Given the description of an element on the screen output the (x, y) to click on. 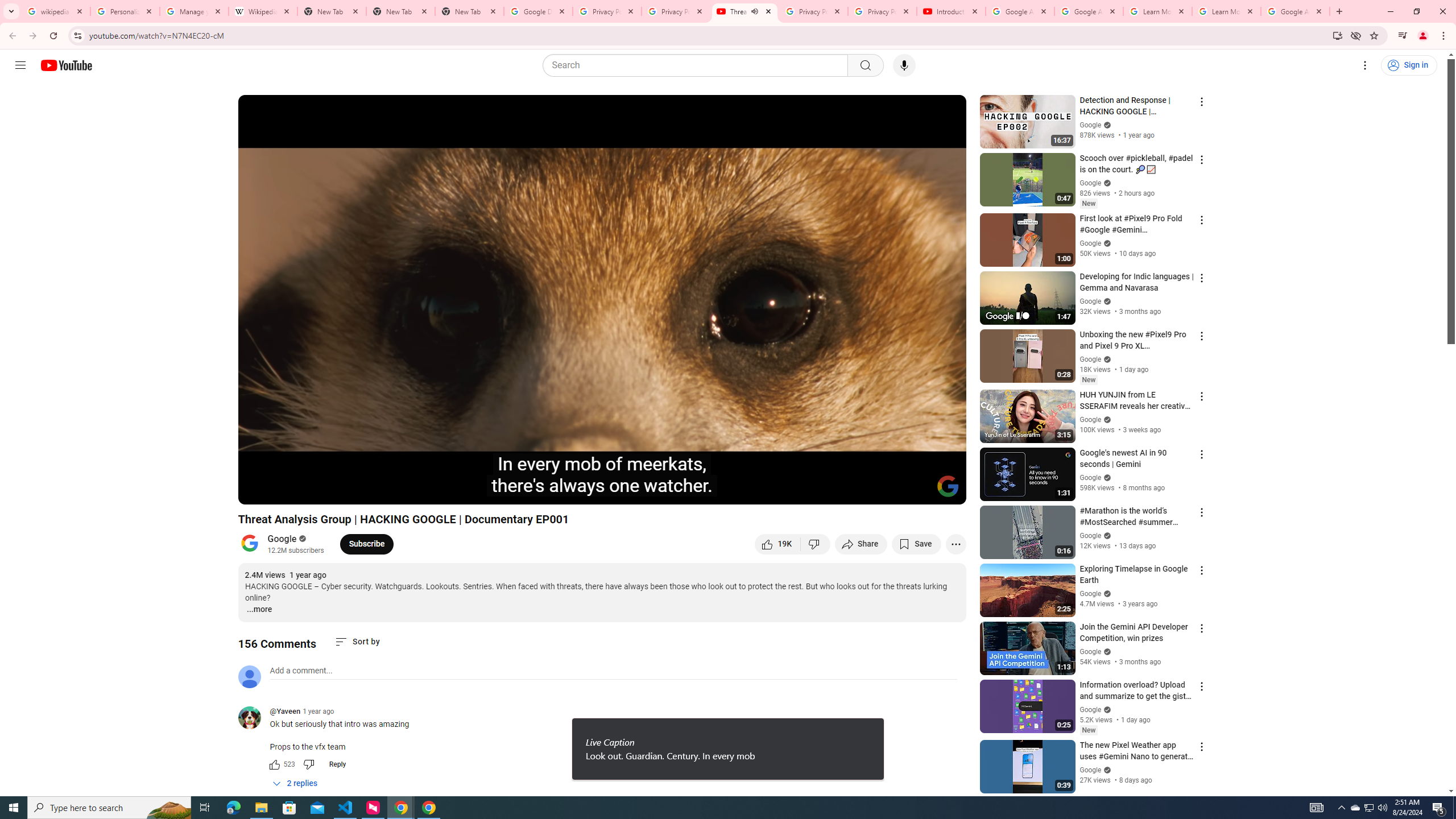
Default profile photo (248, 676)
Full screen (f) (945, 490)
Reply (337, 764)
Introduction | Google Privacy Policy - YouTube (950, 11)
Theater mode (t) (917, 490)
New Tab (400, 11)
